Given the description of an element on the screen output the (x, y) to click on. 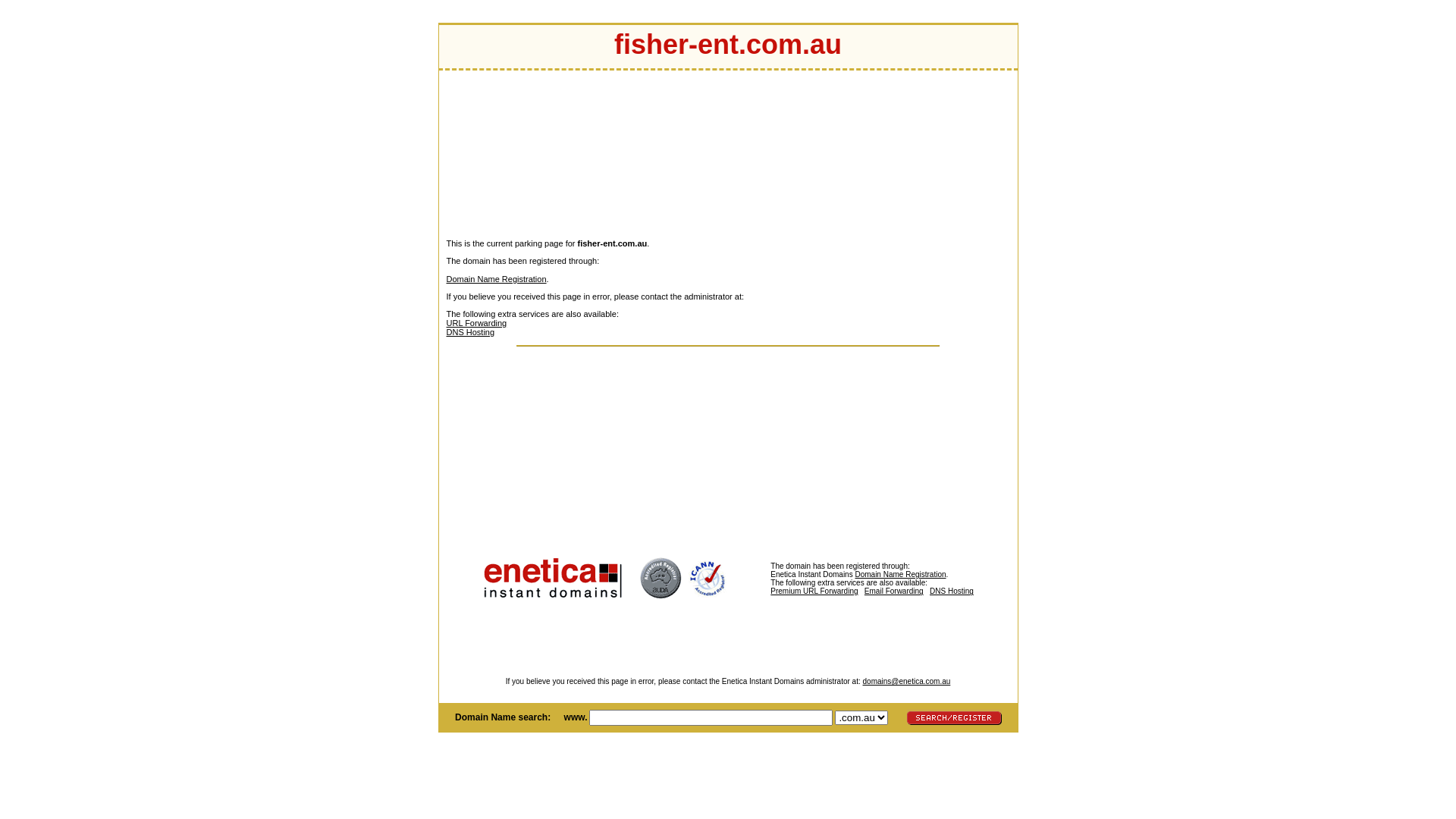
DNS Hosting Element type: text (469, 331)
DNS Hosting Element type: text (951, 590)
URL Forwarding Element type: text (475, 322)
domains@enetica.com.au Element type: text (906, 681)
Premium URL Forwarding Element type: text (850, 594)
Domain Name Registration Element type: text (899, 574)
Email Forwarding Element type: text (893, 590)
Domain Name Registration Element type: text (495, 278)
